Given the description of an element on the screen output the (x, y) to click on. 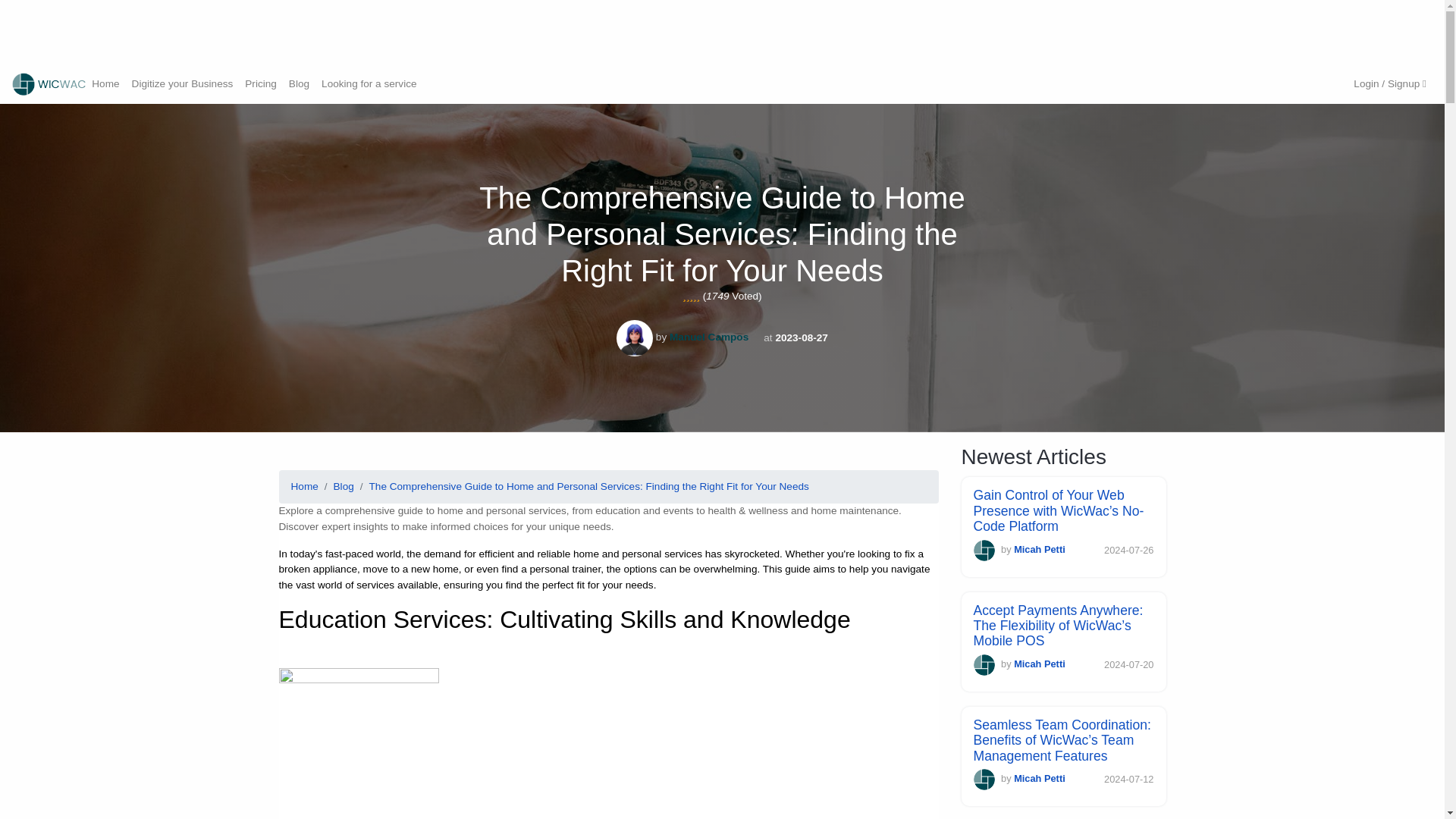
Micah Petti (1039, 663)
Micah Petti (1039, 778)
Looking for a service (368, 83)
Blog (298, 83)
Blog (343, 486)
Home (304, 486)
Home (105, 83)
Micah Petti (1039, 549)
Digitize your Business (182, 83)
